Given the description of an element on the screen output the (x, y) to click on. 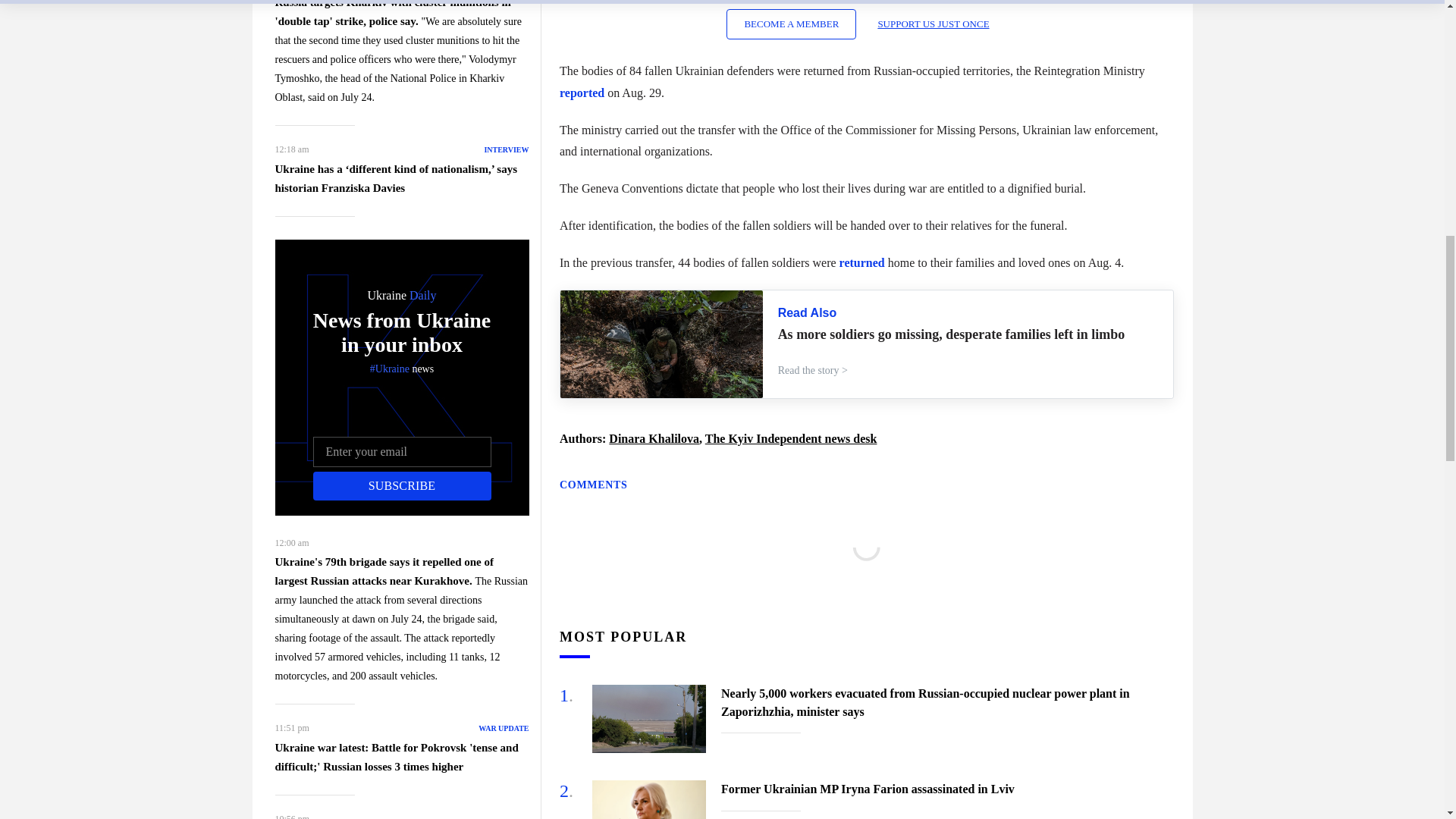
comments-frame (866, 565)
